Given the description of an element on the screen output the (x, y) to click on. 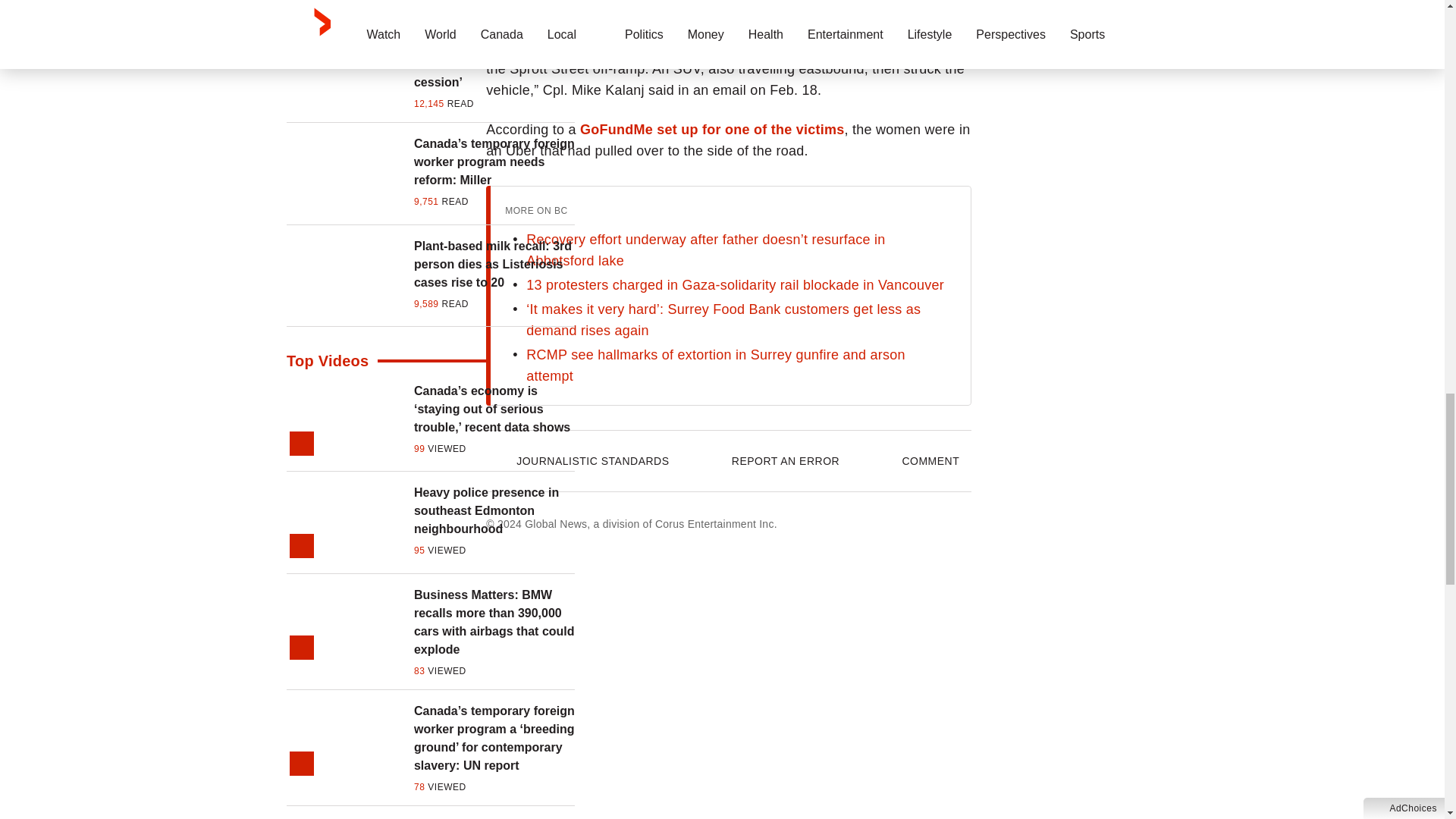
Heavy police presence in southeast Edmonton neighbourhood (494, 511)
